Given the description of an element on the screen output the (x, y) to click on. 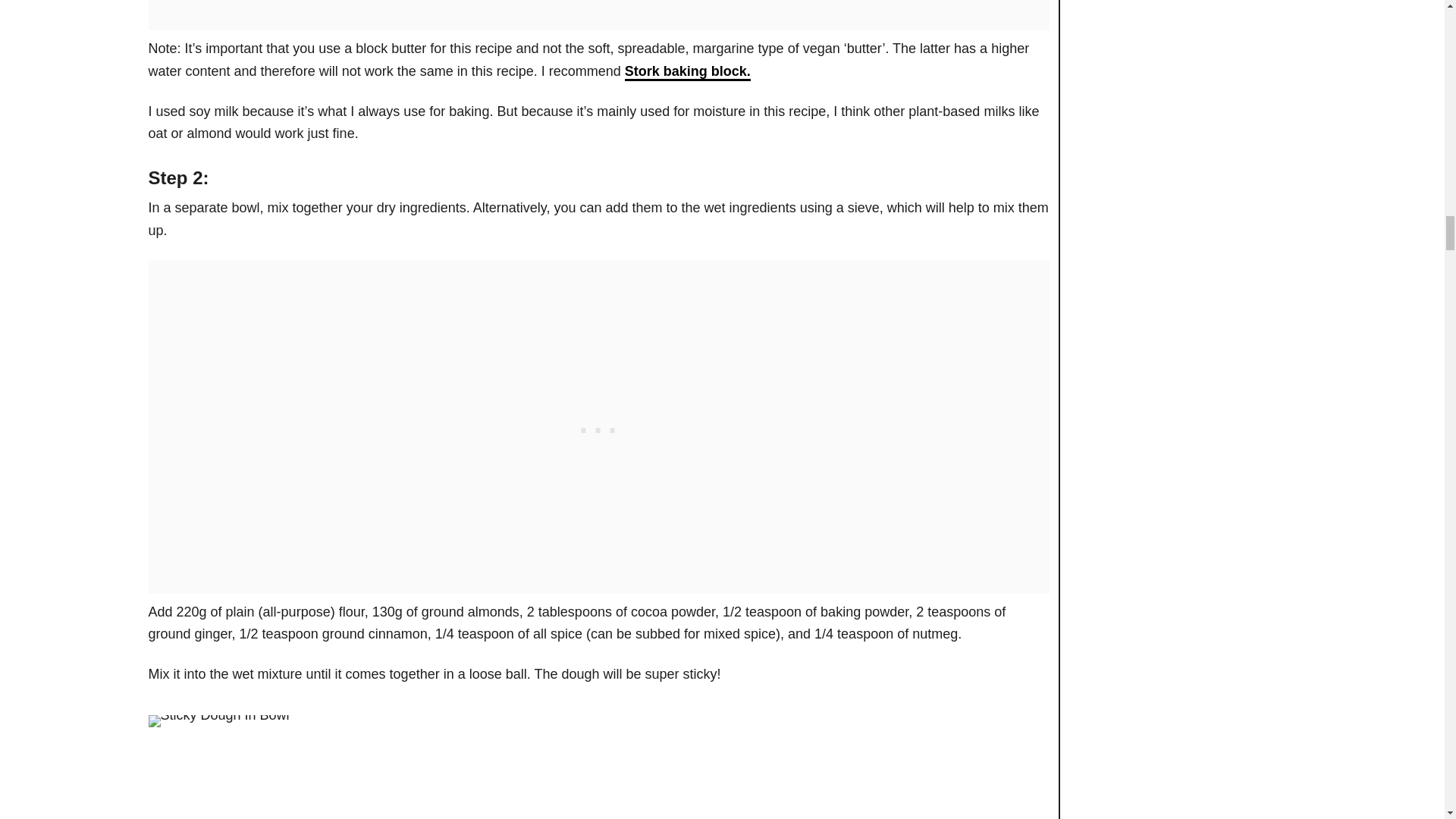
Stork baking block. (687, 72)
